Given the description of an element on the screen output the (x, y) to click on. 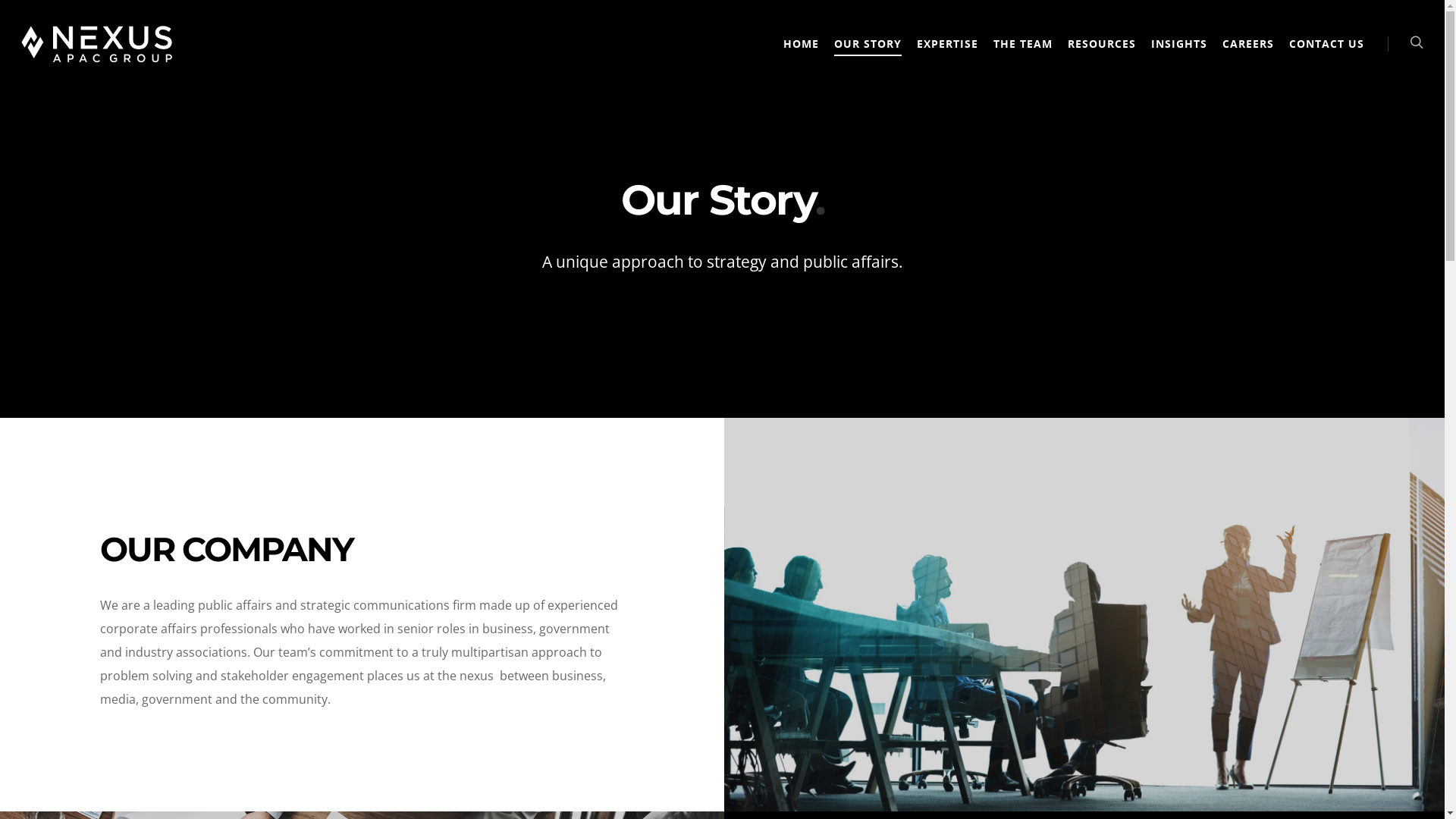
OUR STORY Element type: text (867, 54)
EXPERTISE Element type: text (947, 54)
CAREERS Element type: text (1248, 54)
CONTACT US Element type: text (1326, 54)
RESOURCES Element type: text (1101, 54)
HOME Element type: text (801, 54)
INSIGHTS Element type: text (1179, 54)
THE TEAM Element type: text (1022, 54)
